Given the description of an element on the screen output the (x, y) to click on. 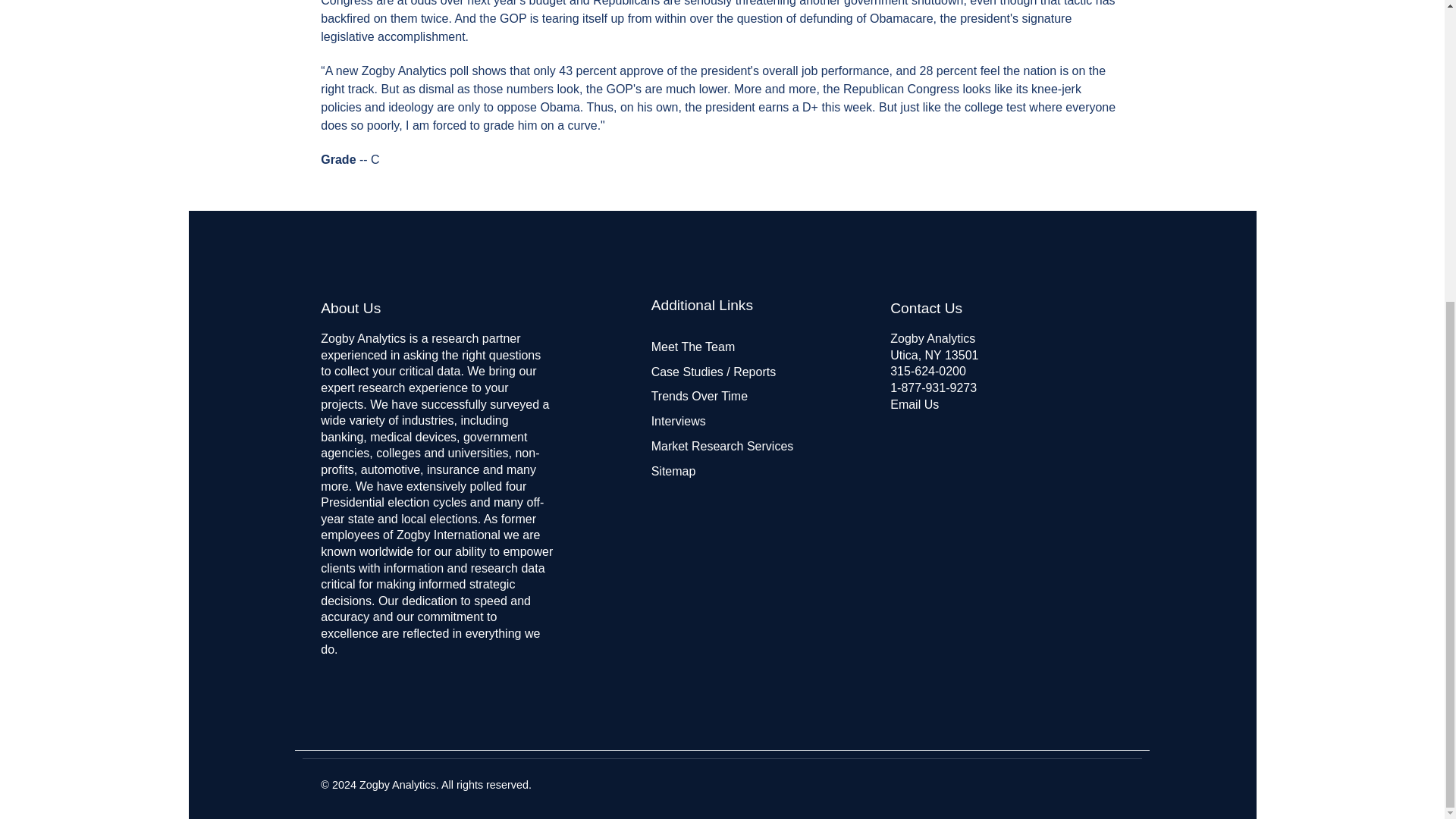
next year's budget (516, 3)
Congress are (356, 3)
Email Us (914, 404)
Trends Over Time (699, 395)
Interviews (678, 420)
Trends Over Time (699, 395)
Market Research Services (721, 445)
Sitemap (672, 471)
defunding of Obamacare, (867, 18)
Meet The Team (692, 346)
